Given the description of an element on the screen output the (x, y) to click on. 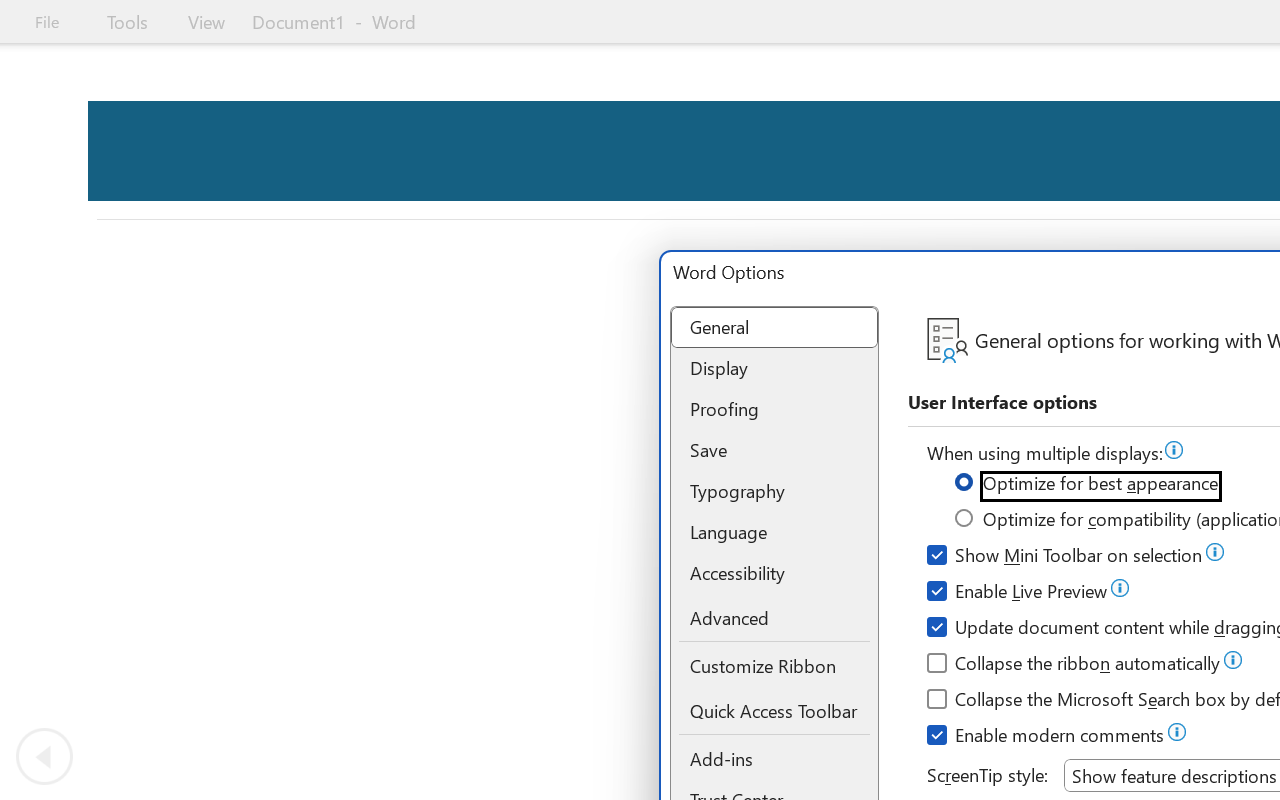
Customize Ribbon (774, 666)
Enable Live Preview (1018, 594)
Optimize for best appearance (1088, 486)
General (774, 327)
